Given the description of an element on the screen output the (x, y) to click on. 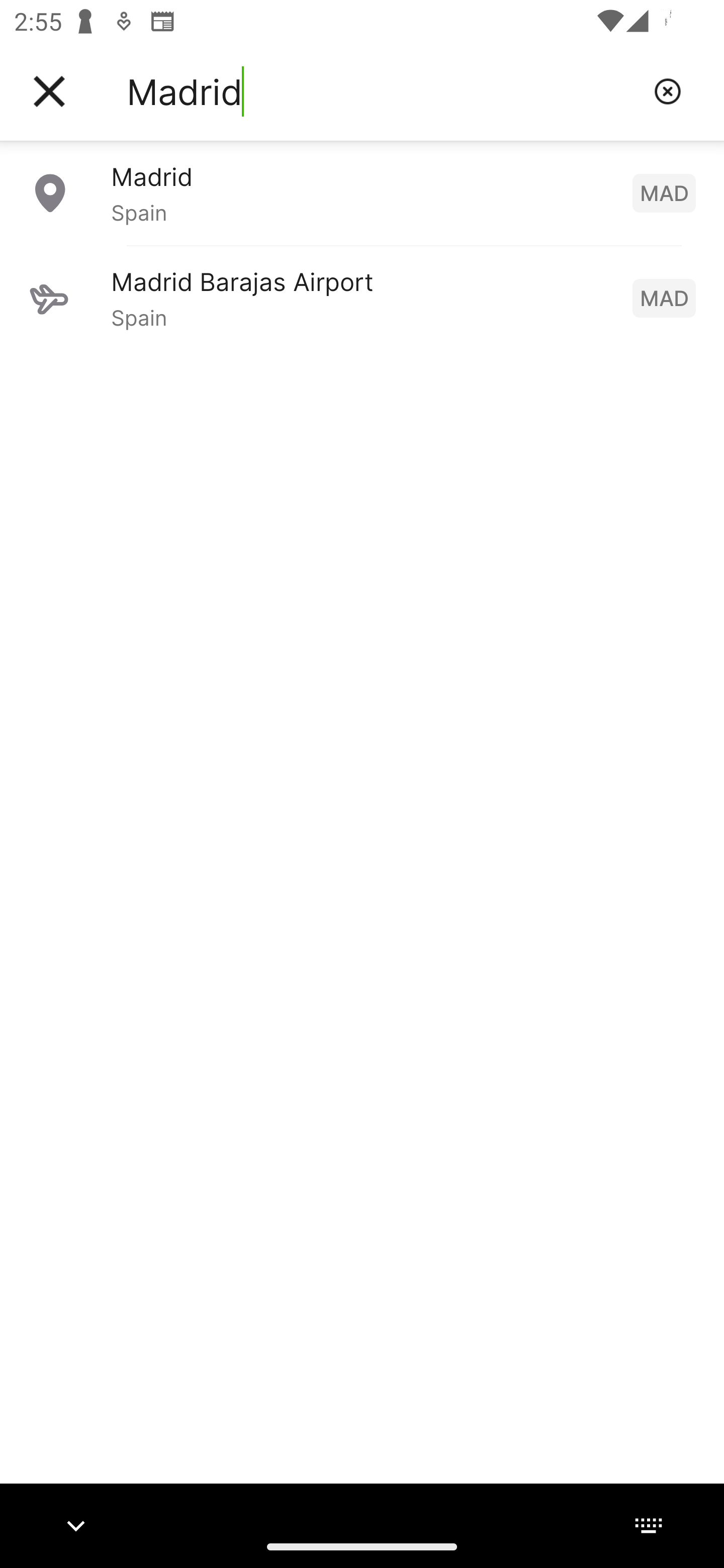
Madrid (382, 91)
Madrid Spain MAD (362, 192)
Madrid Barajas Airport Spain MAD (362, 297)
